Given the description of an element on the screen output the (x, y) to click on. 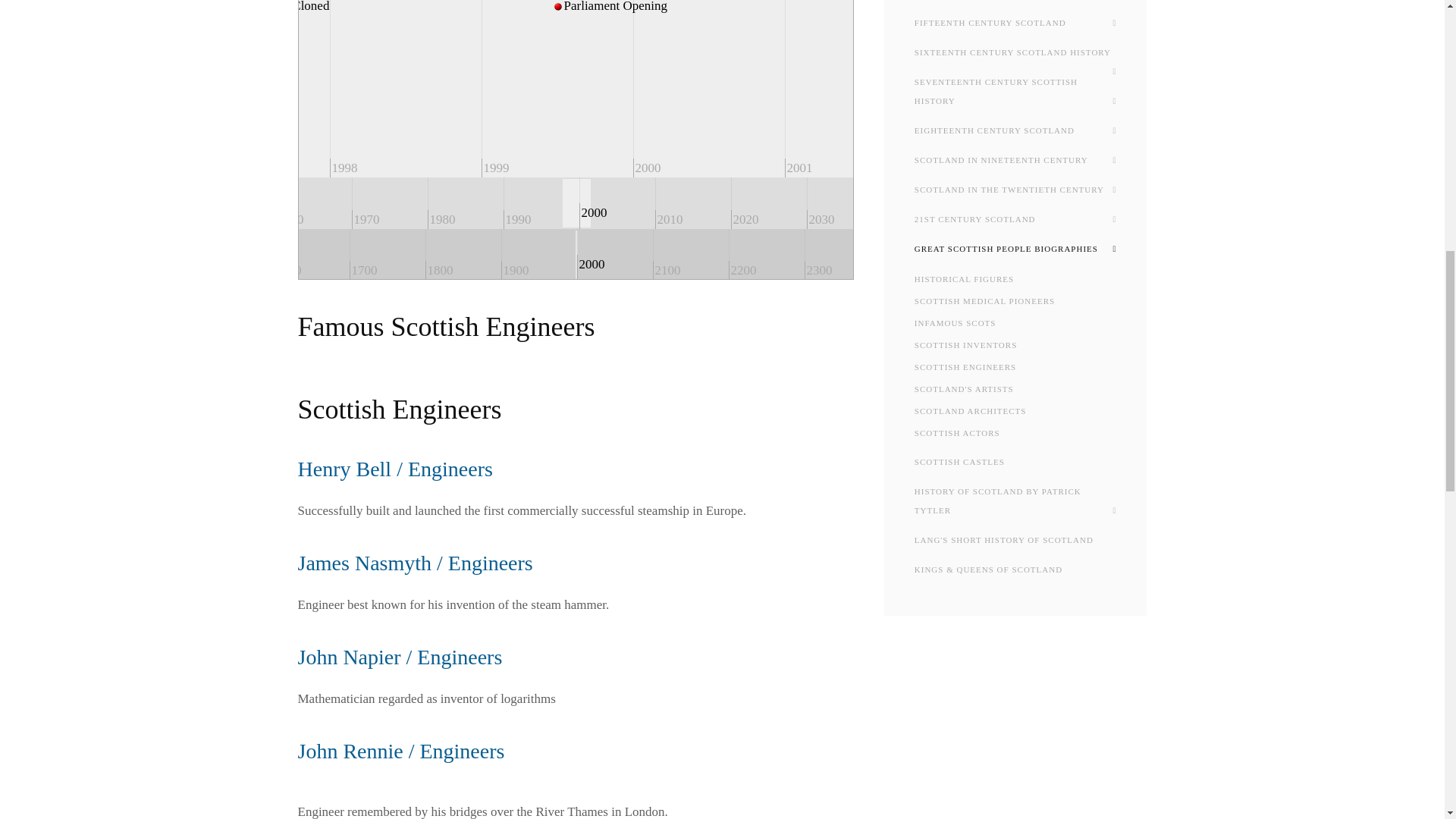
John Napier (399, 657)
Henry Bell (394, 468)
John Rennie (400, 750)
James Nasmyth (414, 562)
